Given the description of an element on the screen output the (x, y) to click on. 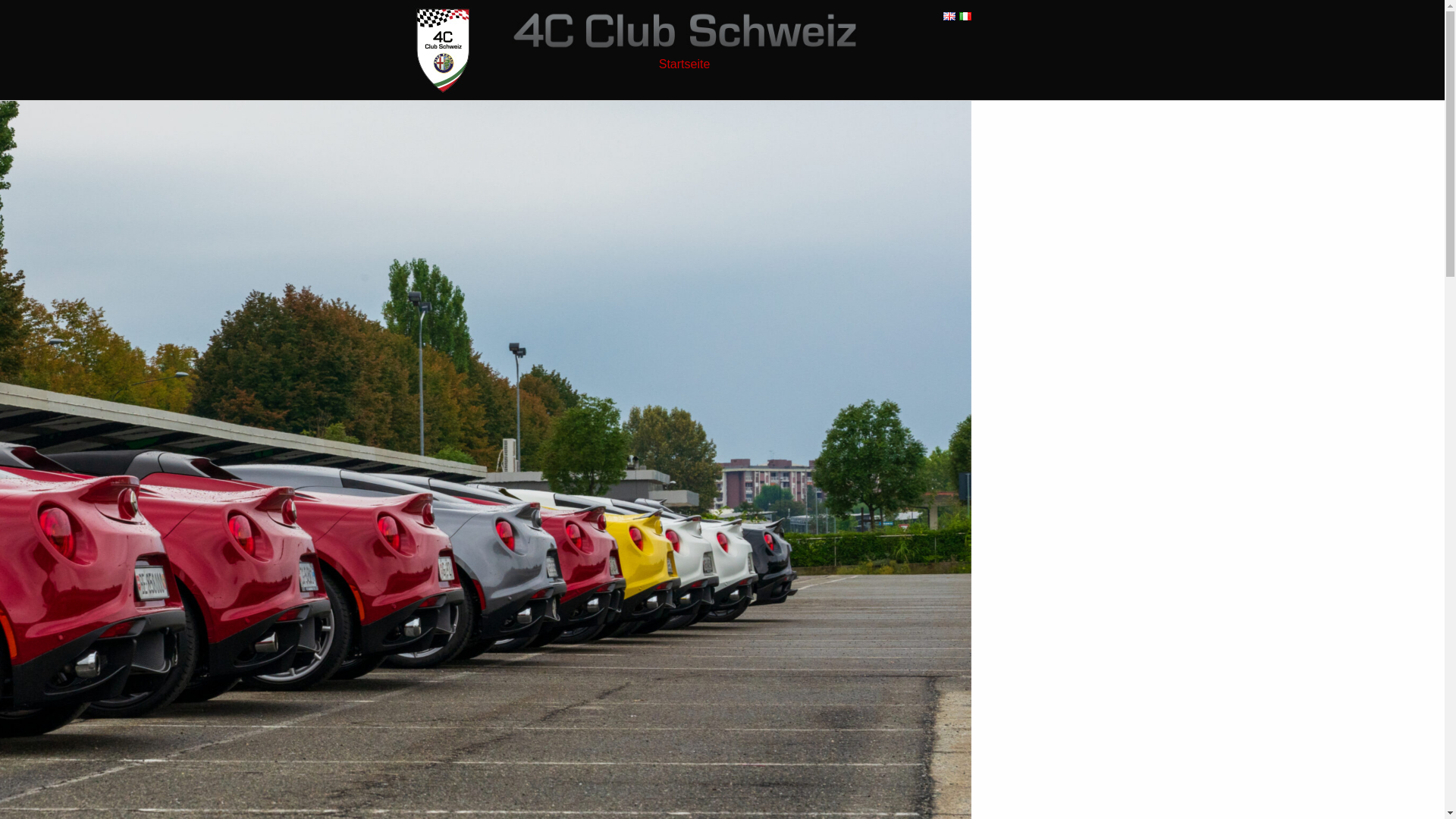
4C Club Schweiz Element type: hover (684, 30)
4C Club Schweiz Element type: hover (442, 50)
Startseite Element type: text (684, 63)
